Given the description of an element on the screen output the (x, y) to click on. 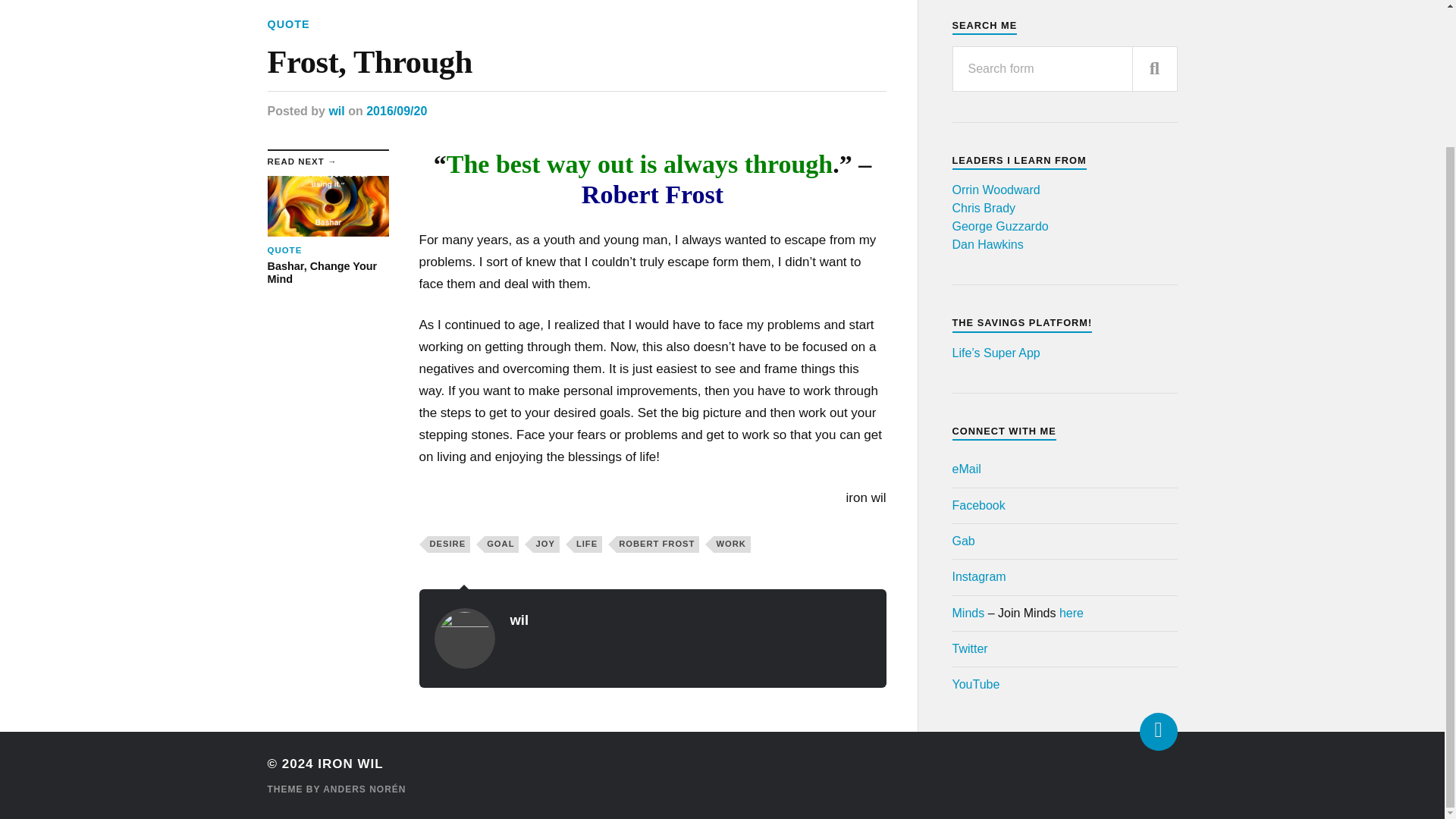
LIFE (587, 544)
DESIRE (449, 544)
wil (518, 619)
Facebook (979, 504)
Gab (963, 540)
JOY (327, 231)
here (545, 544)
Instagram (1071, 612)
QUOTE (979, 576)
Dan Hawkins (287, 24)
WORK (987, 244)
Orrin Woodward (731, 544)
George Guzzardo (996, 189)
Chris Brady (1000, 226)
